Given the description of an element on the screen output the (x, y) to click on. 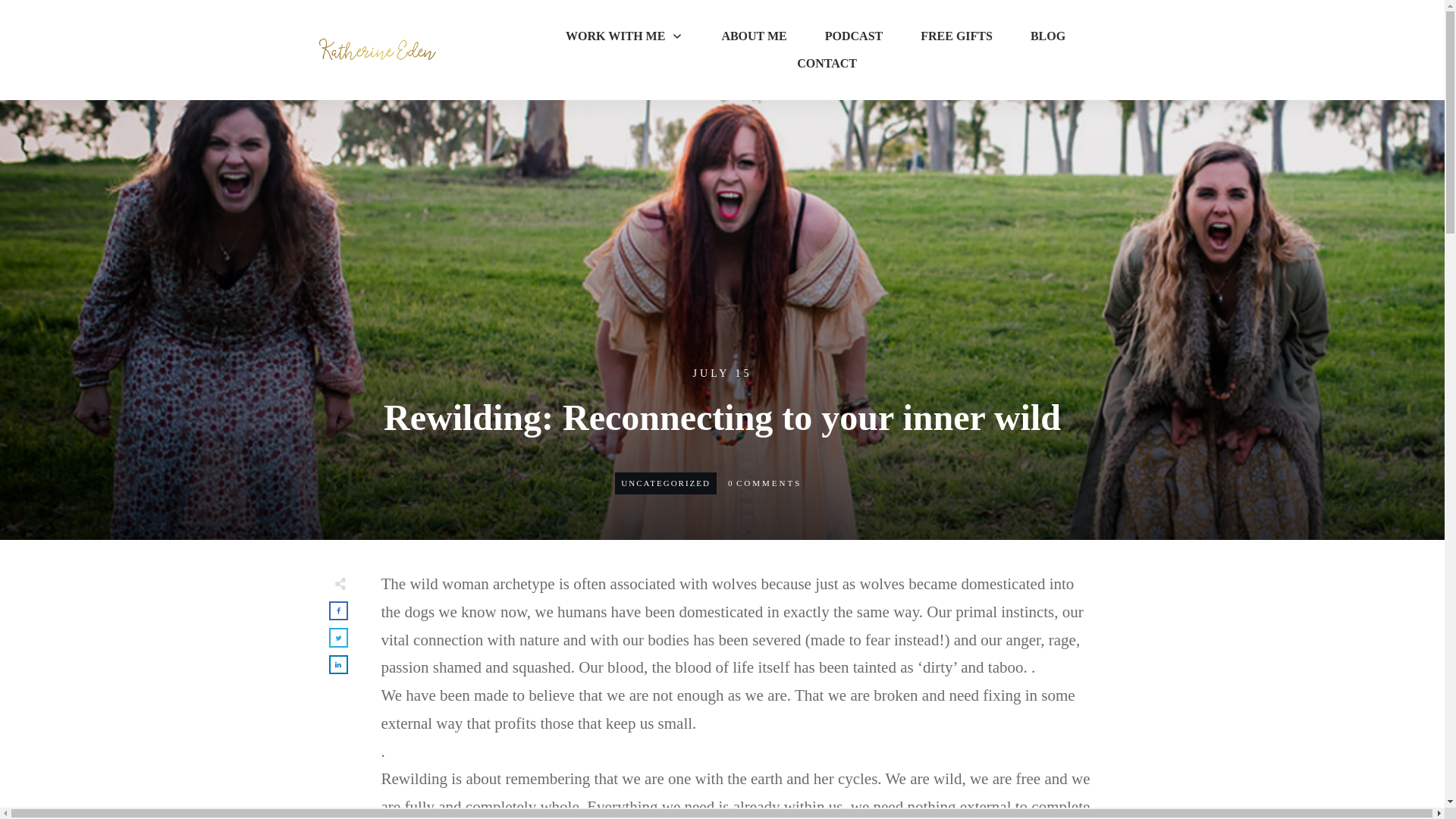
UNCATEGORIZED (665, 482)
CONTACT (826, 63)
BLOG (1047, 36)
PODCAST (853, 36)
Uncategorized (665, 482)
WORK WITH ME (624, 36)
FREE GIFTS (956, 36)
ABOUT ME (753, 36)
